Given the description of an element on the screen output the (x, y) to click on. 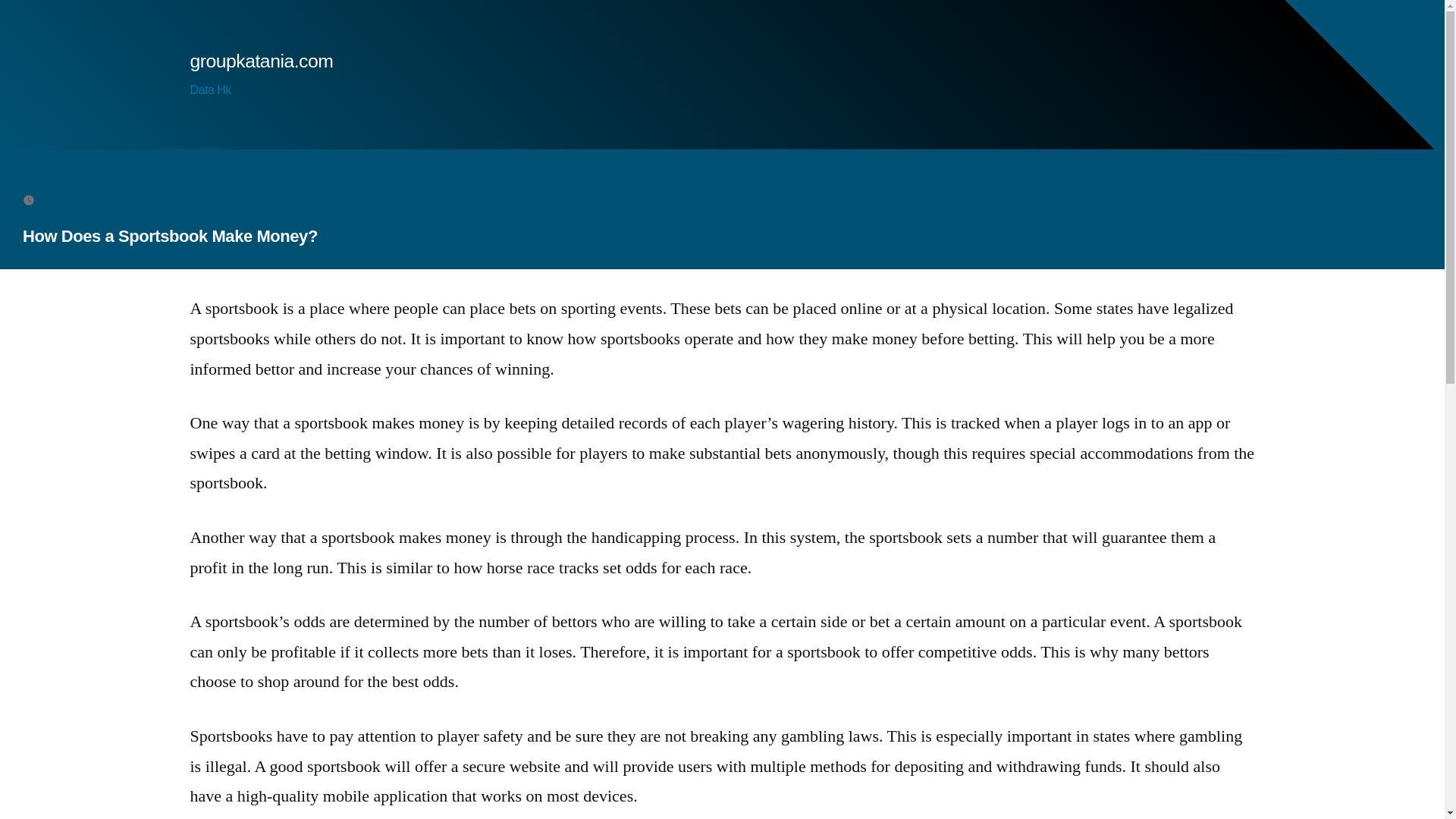
Data Hk (209, 89)
groupkatania.com (261, 60)
March 8, 2024 (78, 198)
